Given the description of an element on the screen output the (x, y) to click on. 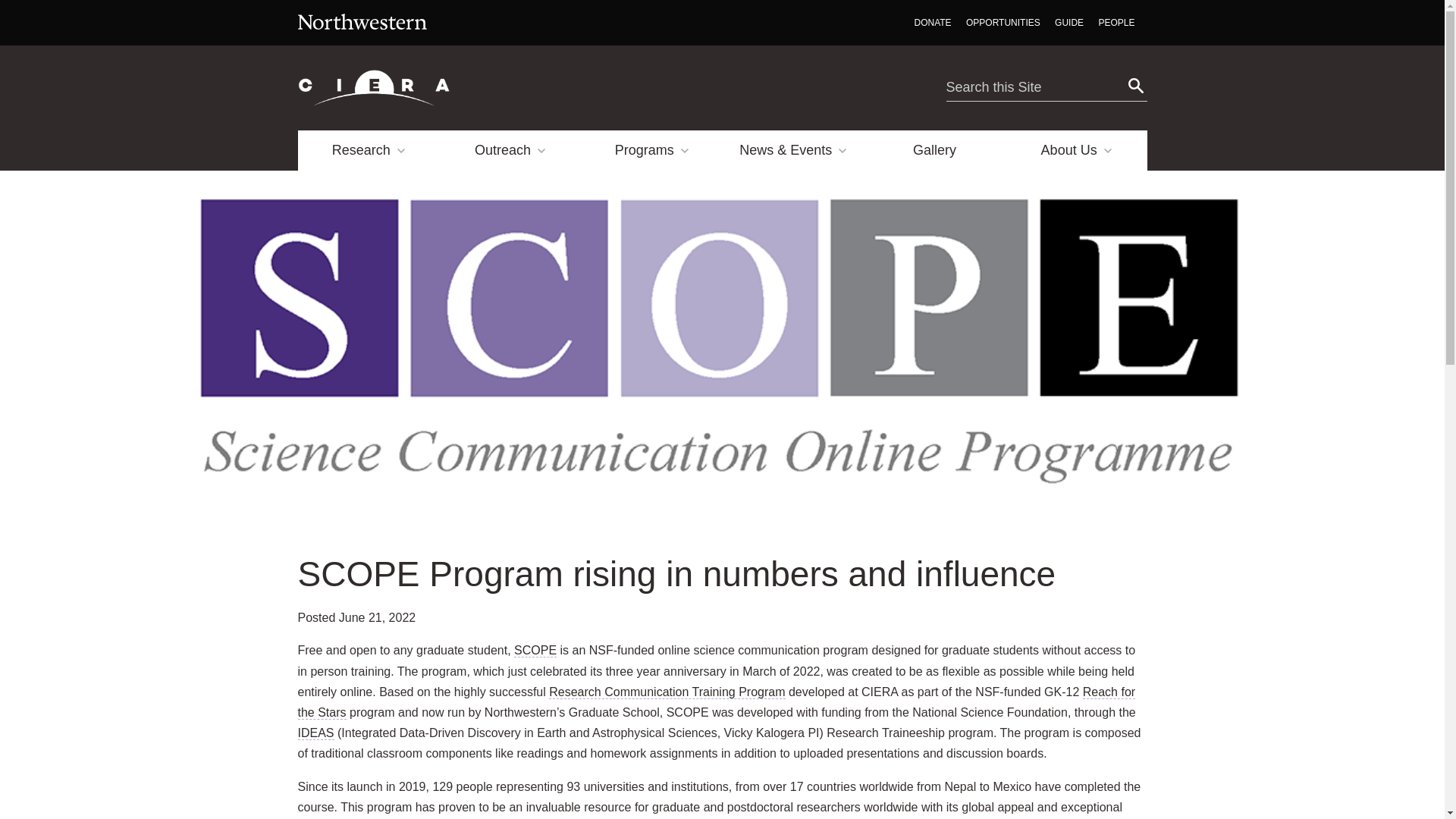
PEOPLE (1115, 22)
OPPORTUNITIES (1003, 22)
DONATE (933, 22)
GUIDE (1068, 22)
